Given the description of an element on the screen output the (x, y) to click on. 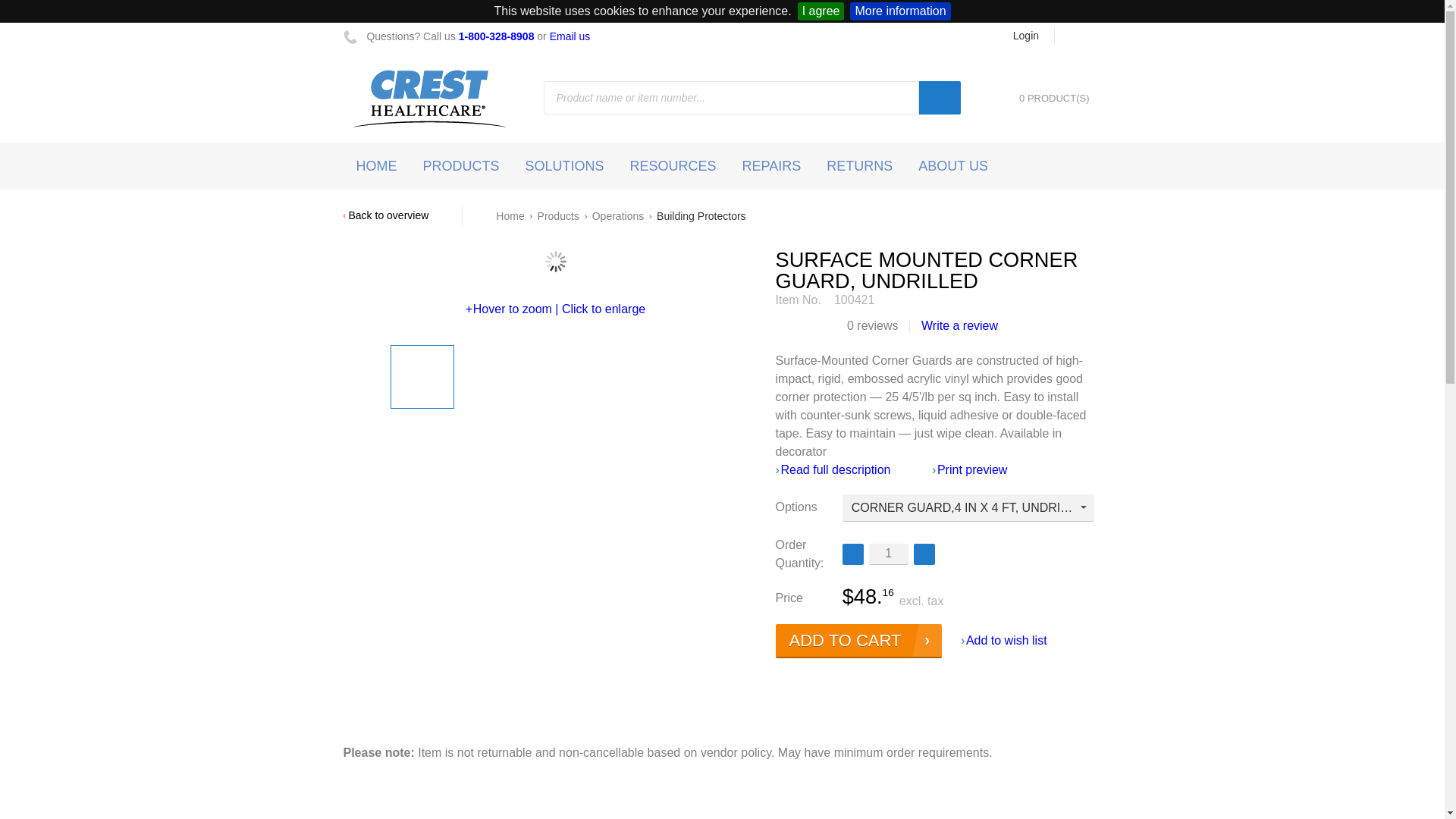
Write a review (952, 325)
4.5 (829, 326)
1 (888, 553)
Add to wish list (1003, 640)
1.5 (793, 326)
More information (900, 11)
Print preview (969, 470)
3.5 (817, 326)
0.5 (780, 326)
Add to cart (858, 641)
